Given the description of an element on the screen output the (x, y) to click on. 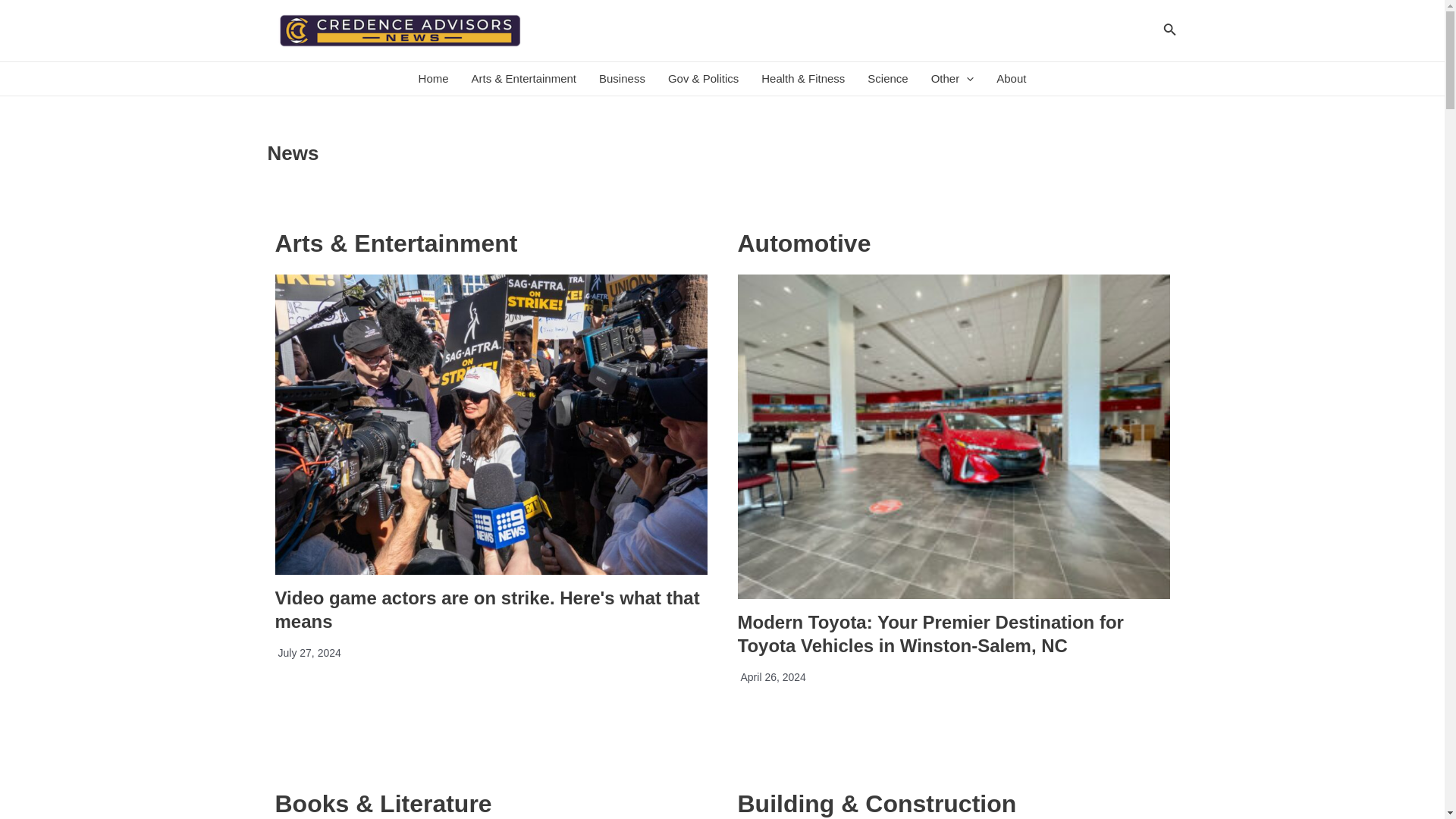
Home (433, 78)
Science (887, 78)
About (1010, 78)
Other (952, 78)
Business (622, 78)
